Given the description of an element on the screen output the (x, y) to click on. 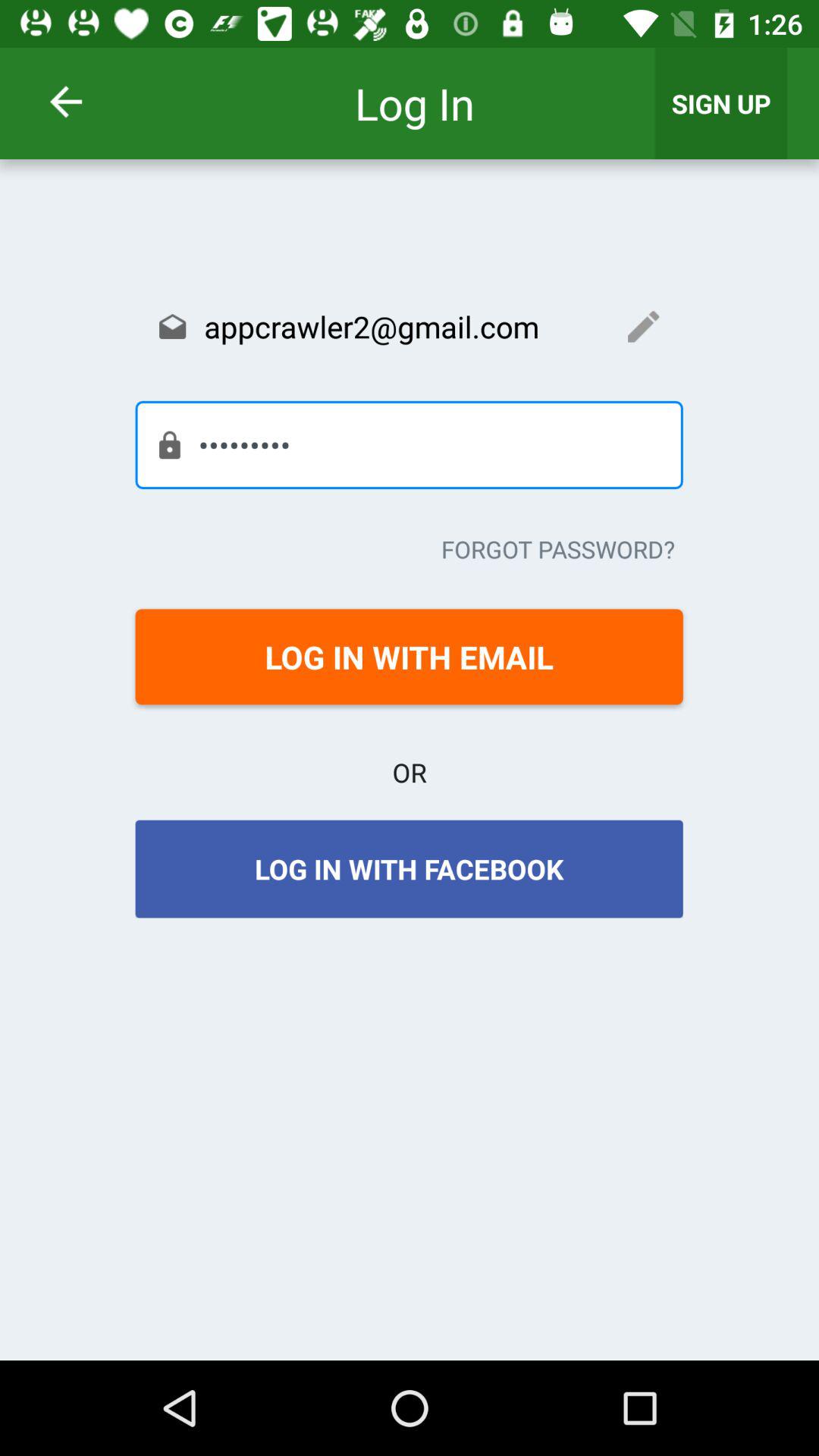
choose item above the appcrawler2@gmail.com (85, 101)
